Given the description of an element on the screen output the (x, y) to click on. 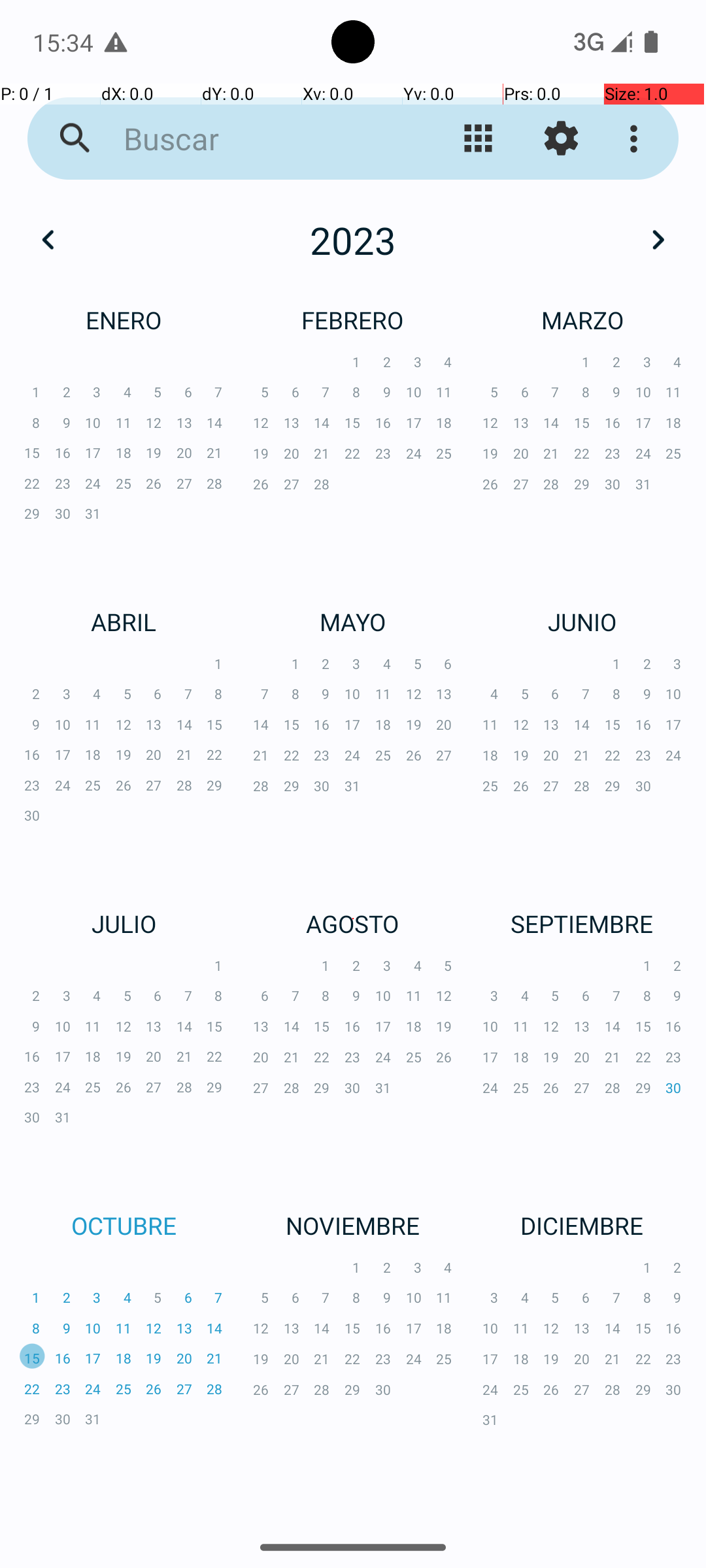
ENERO Element type: android.widget.TextView (123, 319)
FEBRERO Element type: android.widget.TextView (352, 319)
MARZO Element type: android.widget.TextView (582, 319)
ABRIL Element type: android.widget.TextView (123, 621)
MAYO Element type: android.widget.TextView (352, 621)
JUNIO Element type: android.widget.TextView (582, 621)
JULIO Element type: android.widget.TextView (123, 923)
AGOSTO Element type: android.widget.TextView (352, 923)
SEPTIEMBRE Element type: android.widget.TextView (582, 923)
OCTUBRE Element type: android.widget.TextView (123, 1224)
NOVIEMBRE Element type: android.widget.TextView (352, 1224)
DICIEMBRE Element type: android.widget.TextView (582, 1224)
